Given the description of an element on the screen output the (x, y) to click on. 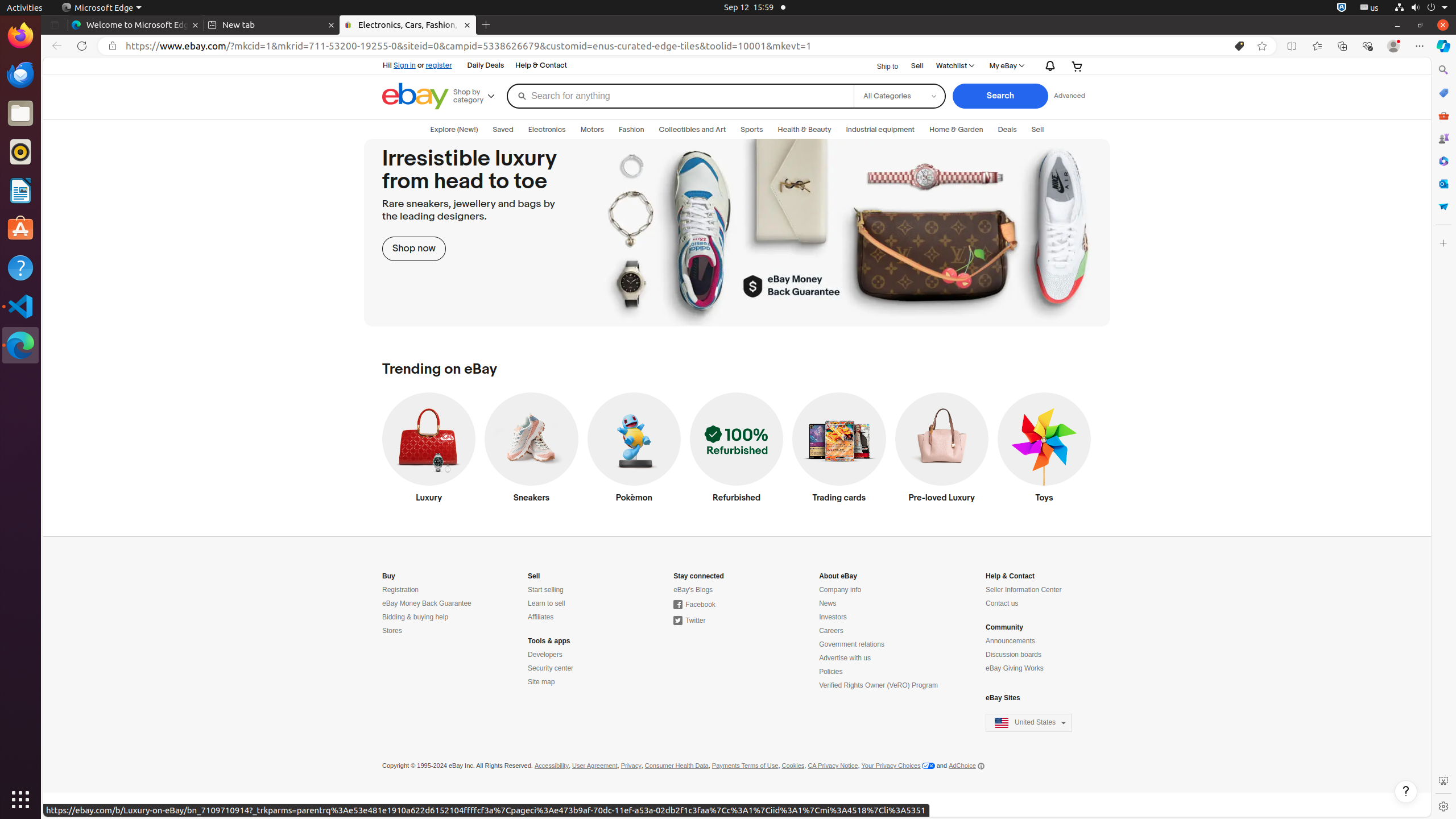
Motors Element type: link (592, 129)
Refresh Element type: push-button (81, 45)
Refurbished Element type: link (736, 450)
Firefox Web Browser Element type: push-button (20, 35)
Advertise with us Element type: link (844, 658)
